Given the description of an element on the screen output the (x, y) to click on. 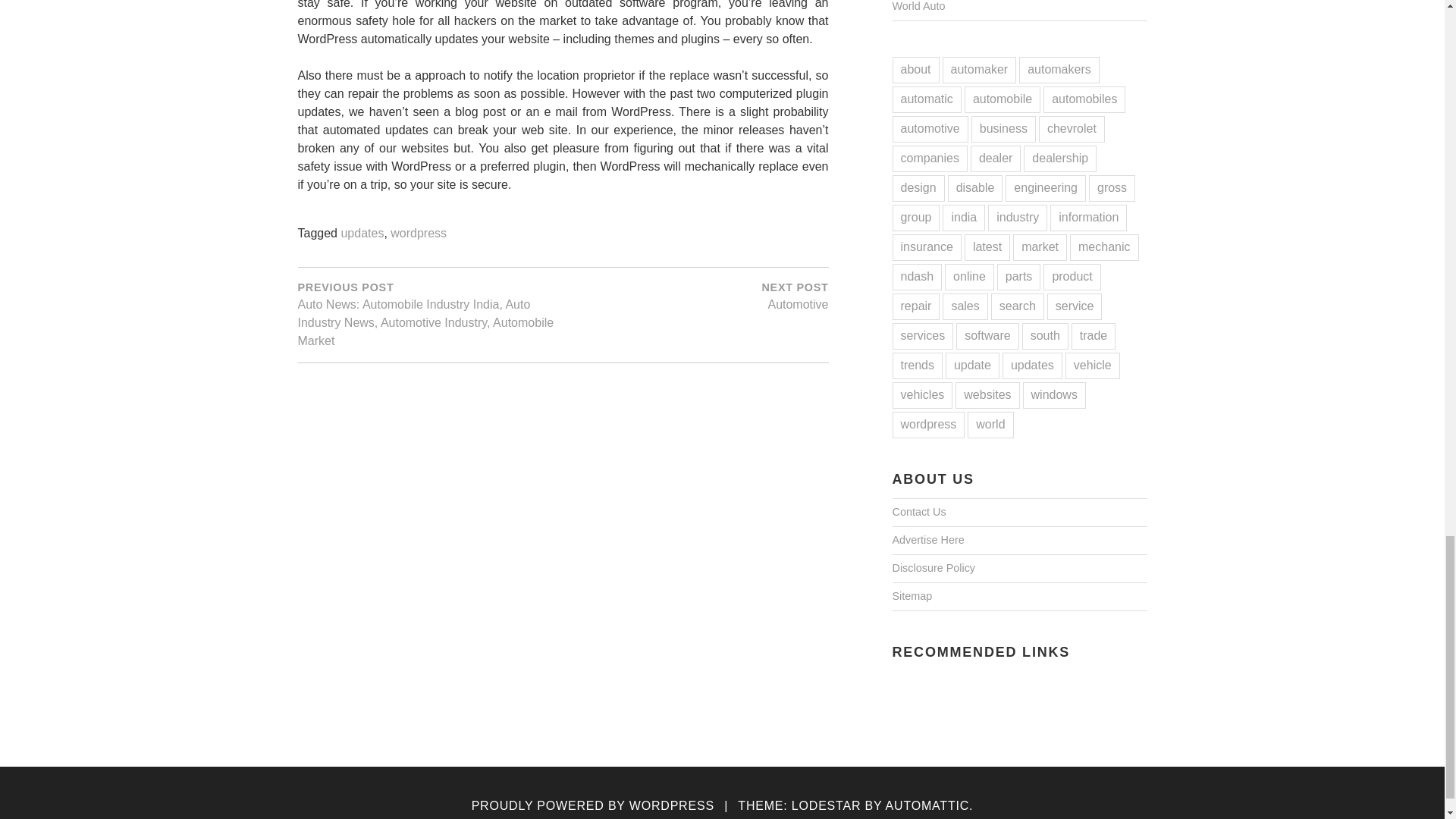
wordpress (695, 295)
updates (418, 233)
